Given the description of an element on the screen output the (x, y) to click on. 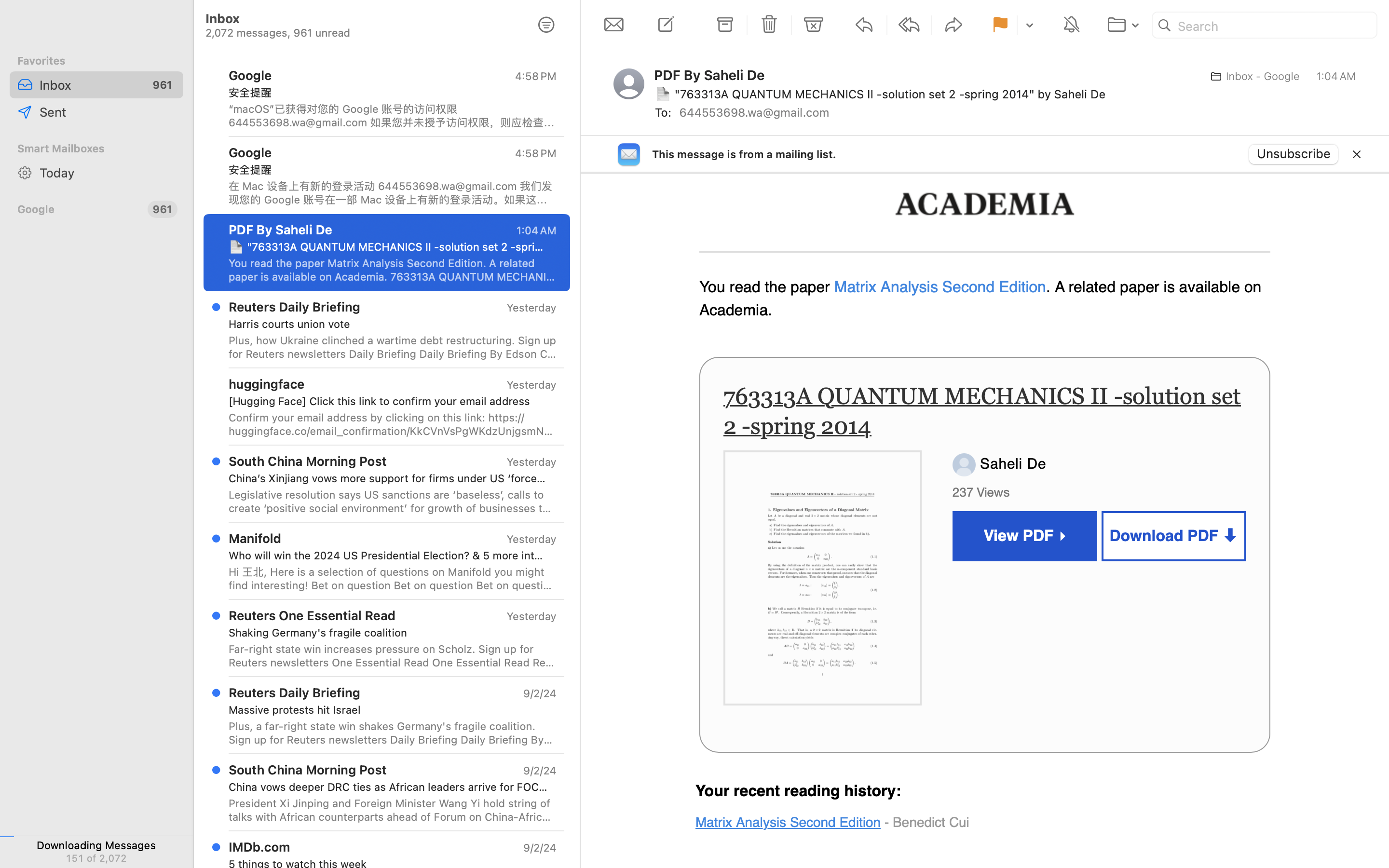
763313A QUANTUM MECHANICS II -solution set 2 -spring 2014 Element type: AXStaticText (982, 410)
Saheli De Element type: AXStaticText (1010, 463)
Who will win the 2024 US Presidential Election? & 5 more interesting markets on Manifold Element type: AXStaticText (388, 555)
644553698.wa@gmail.com Element type: AXStaticText (758, 112)
Hi 王北, Here is a selection of questions on Manifold you might find interesting! Bet on question Bet on question Bet on question Bet on question Bet on question Bet on question 🔎 Explore Manifold This e-mail has been sent to 王北, click here to unsubscribe from this type of notification. Element type: AXStaticText (392, 578)
